Given the description of an element on the screen output the (x, y) to click on. 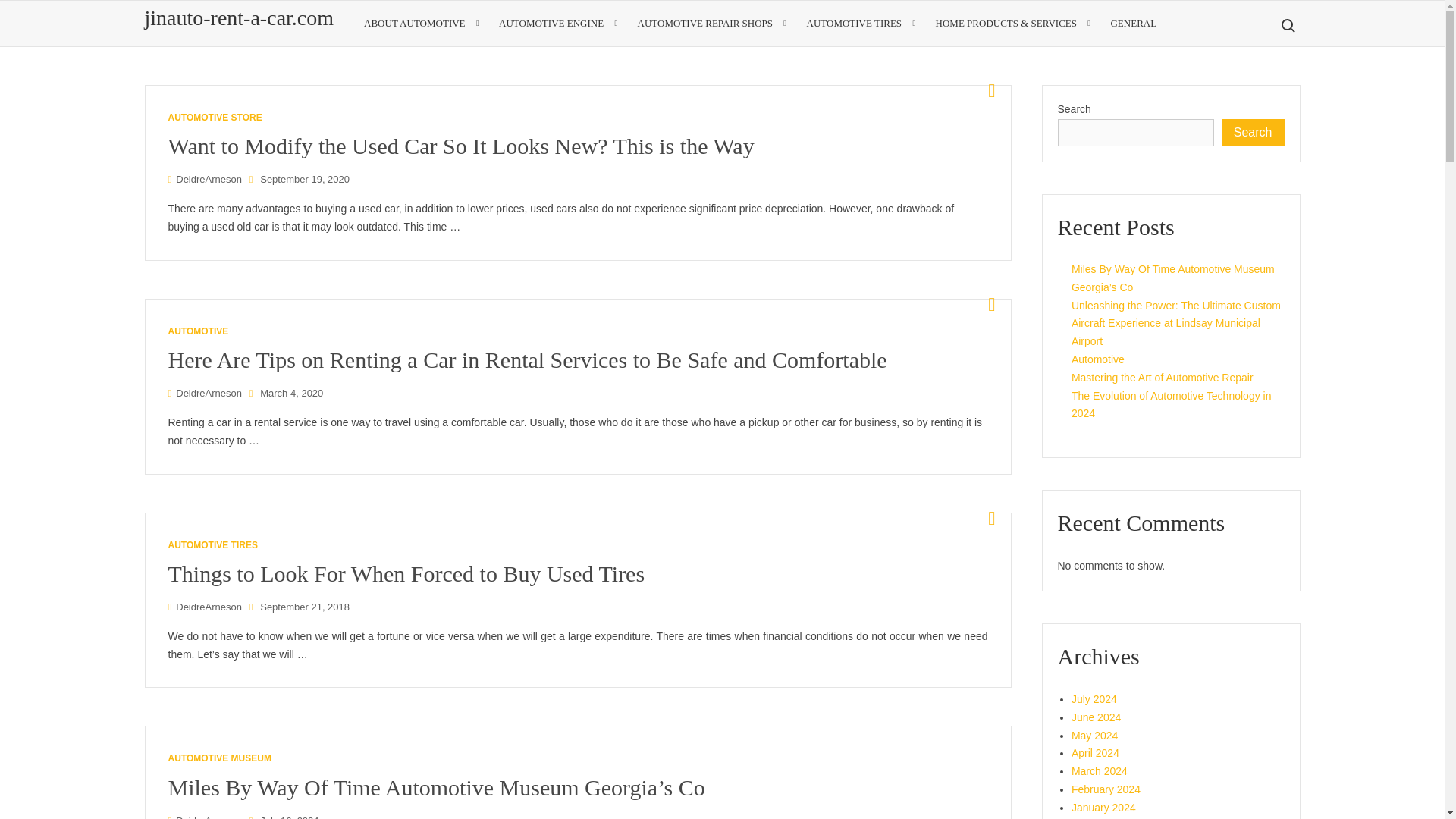
jinauto-rent-a-car.com (238, 17)
